Given the description of an element on the screen output the (x, y) to click on. 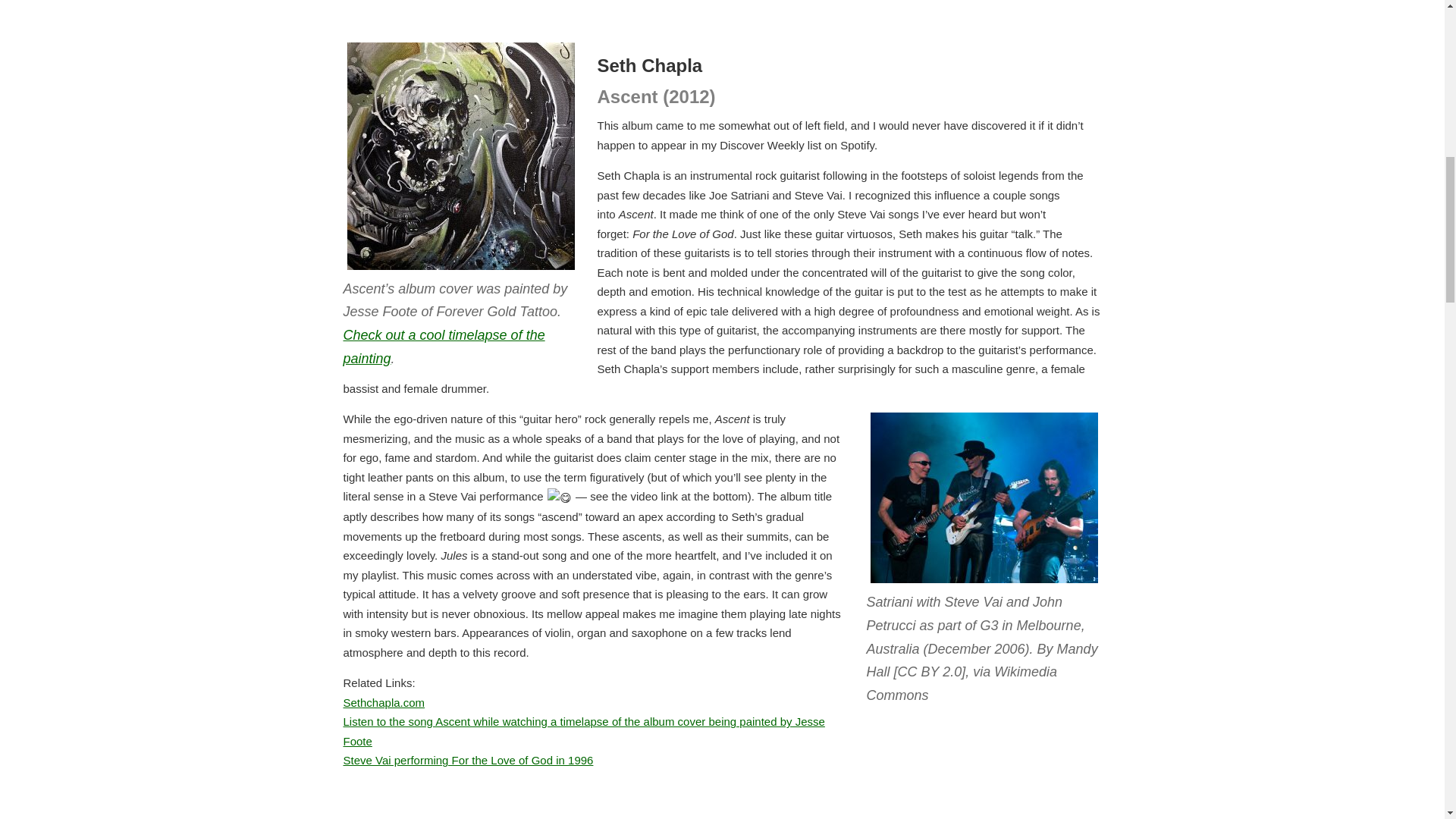
Check out a cool timelapse of the painting (443, 346)
Steve Vai performing For the Love of God in 1996 (467, 759)
Sethchapla.com (383, 702)
